Given the description of an element on the screen output the (x, y) to click on. 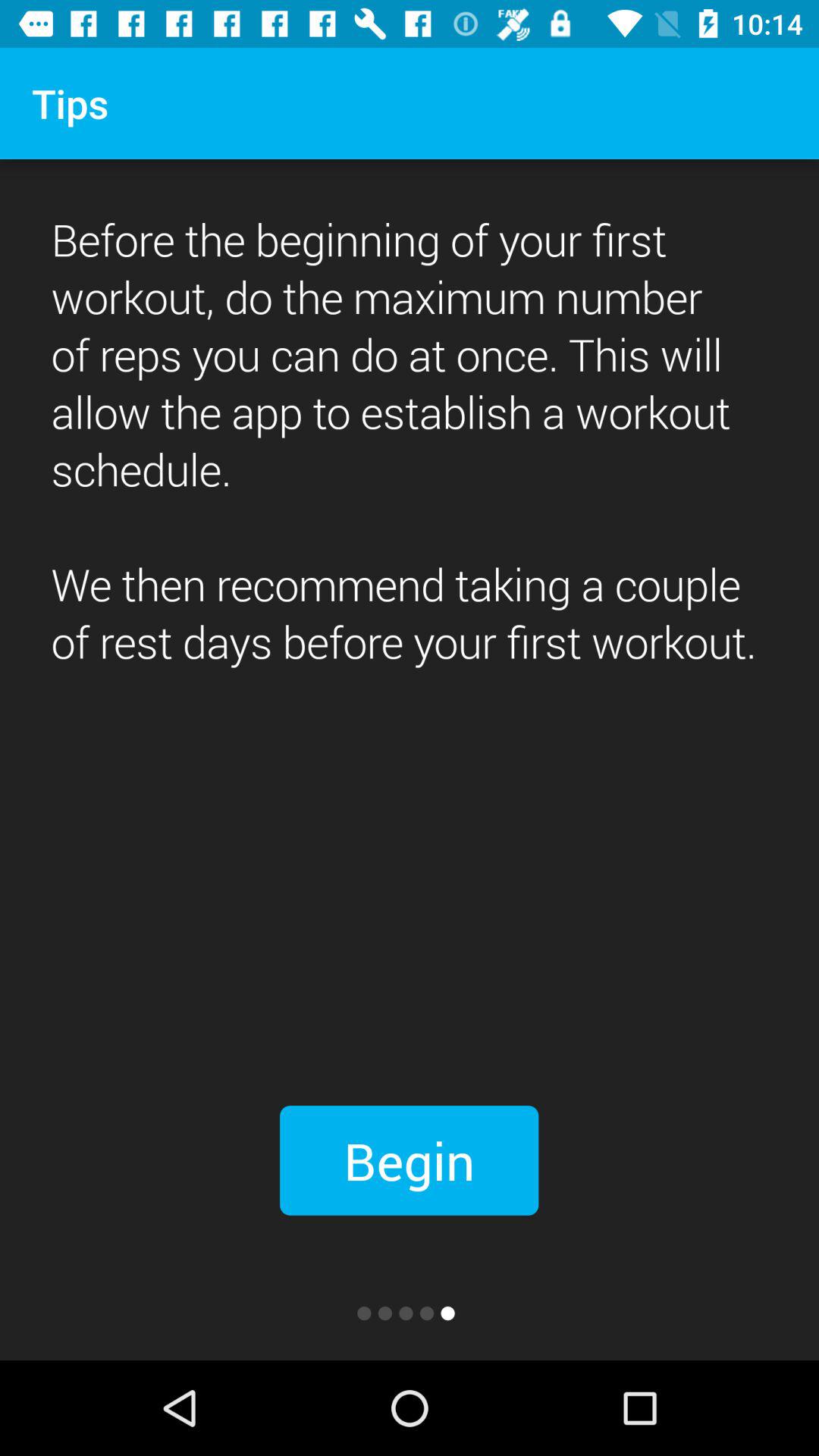
turn off begin (408, 1160)
